Given the description of an element on the screen output the (x, y) to click on. 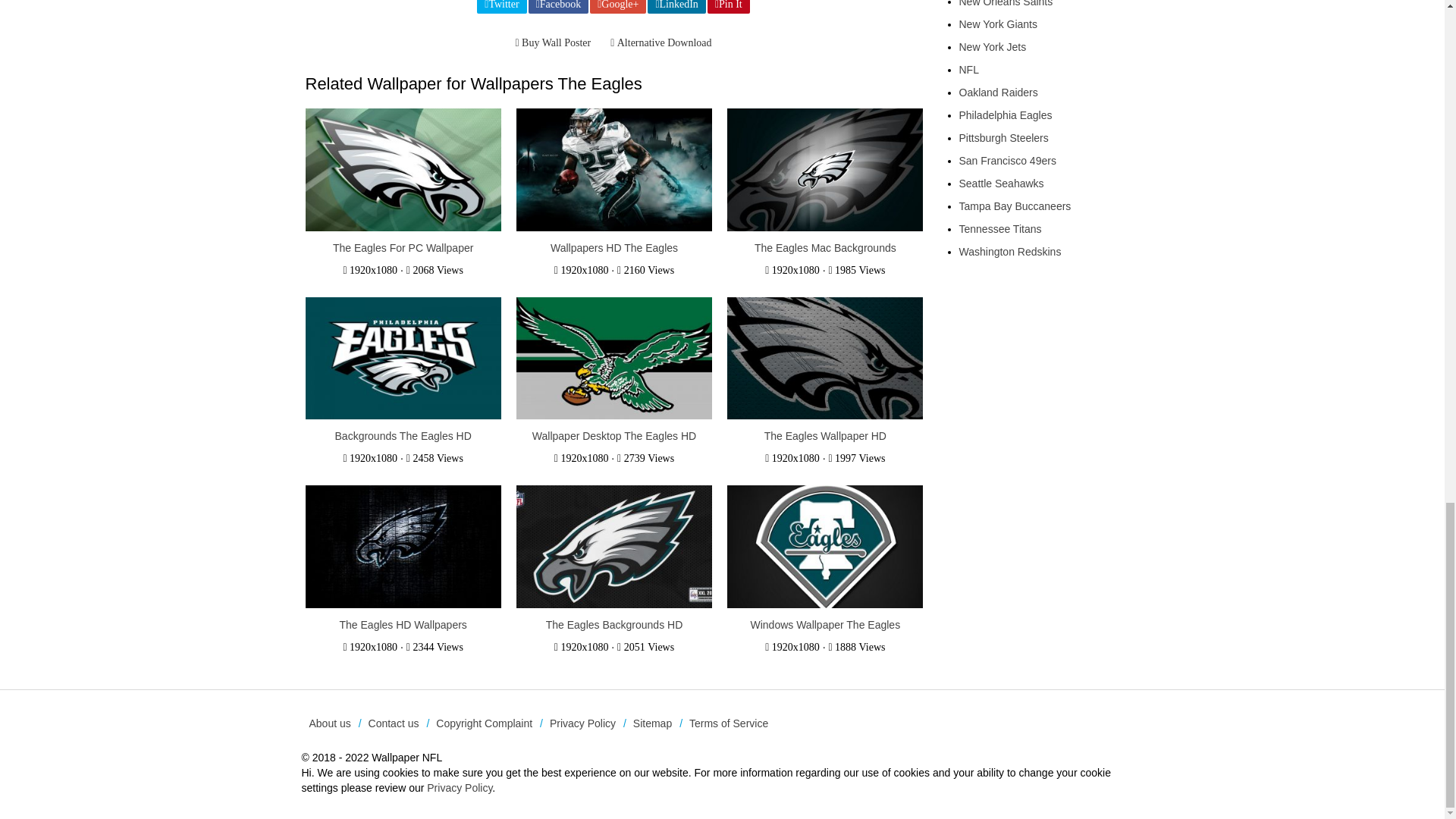
Facebook (558, 6)
Wallpapers HD The Eagles (613, 170)
Backgrounds The Eagles HD (402, 435)
Alternative Download (660, 43)
Backgrounds The Eagles HD (402, 358)
LinkedIn (675, 6)
Backgrounds The Eagles HD (402, 435)
The Eagles Mac Backgrounds (825, 247)
The Eagles For PC Wallpaper (402, 170)
Pin It (728, 6)
Wallpapers HD The Eagles (614, 247)
The Eagles Wallpaper HD (825, 435)
The Eagles For PC Wallpaper (403, 247)
Wallpaper Desktop The Eagles HD (613, 435)
Twitter (501, 6)
